Given the description of an element on the screen output the (x, y) to click on. 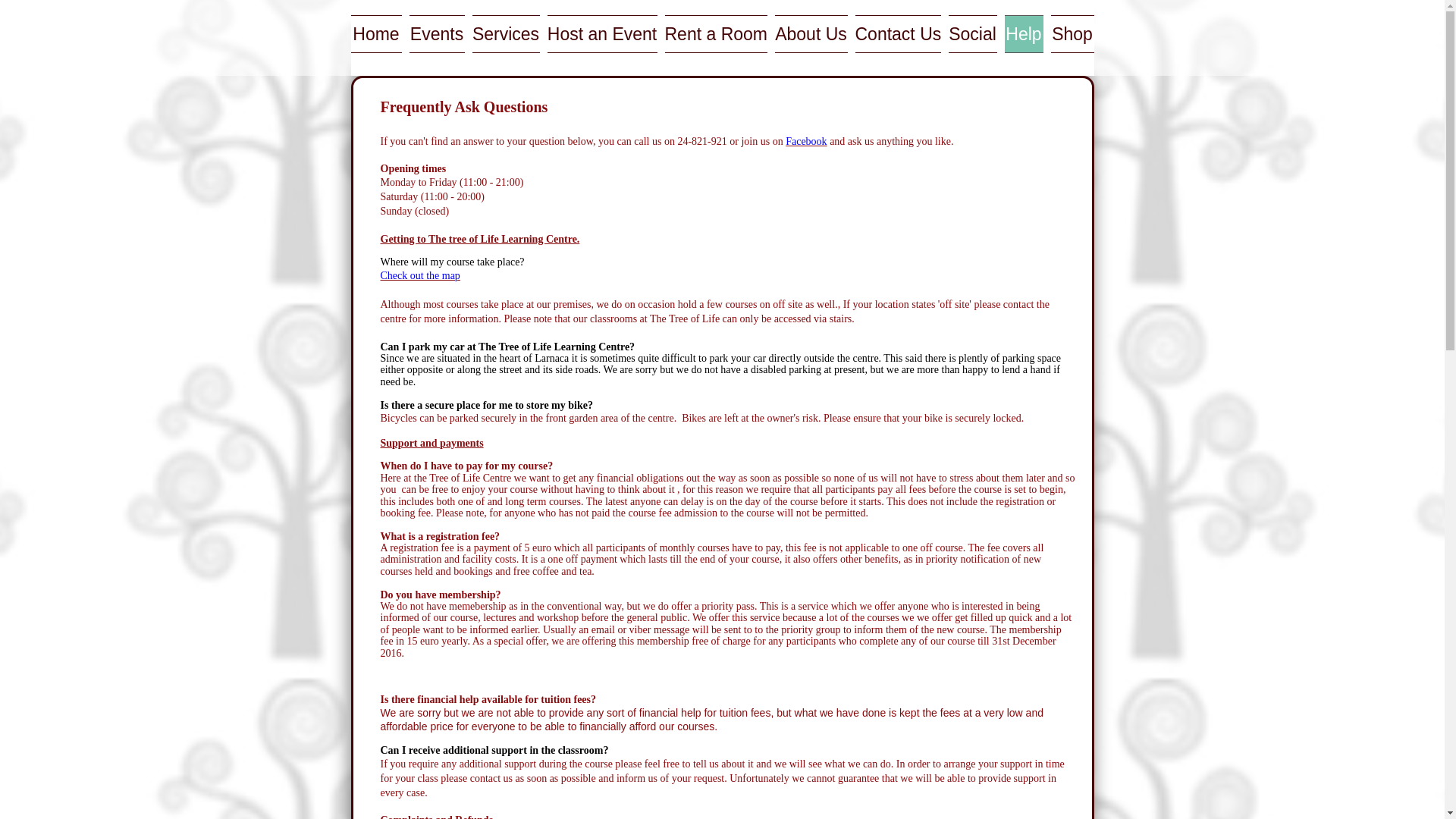
About Us (810, 34)
Home (377, 34)
Help (1023, 34)
Services (505, 34)
Shop (1069, 34)
Host an Event (602, 34)
Rent a Room (716, 34)
Facebook (806, 141)
Social (972, 34)
Check out the map (420, 275)
